Given the description of an element on the screen output the (x, y) to click on. 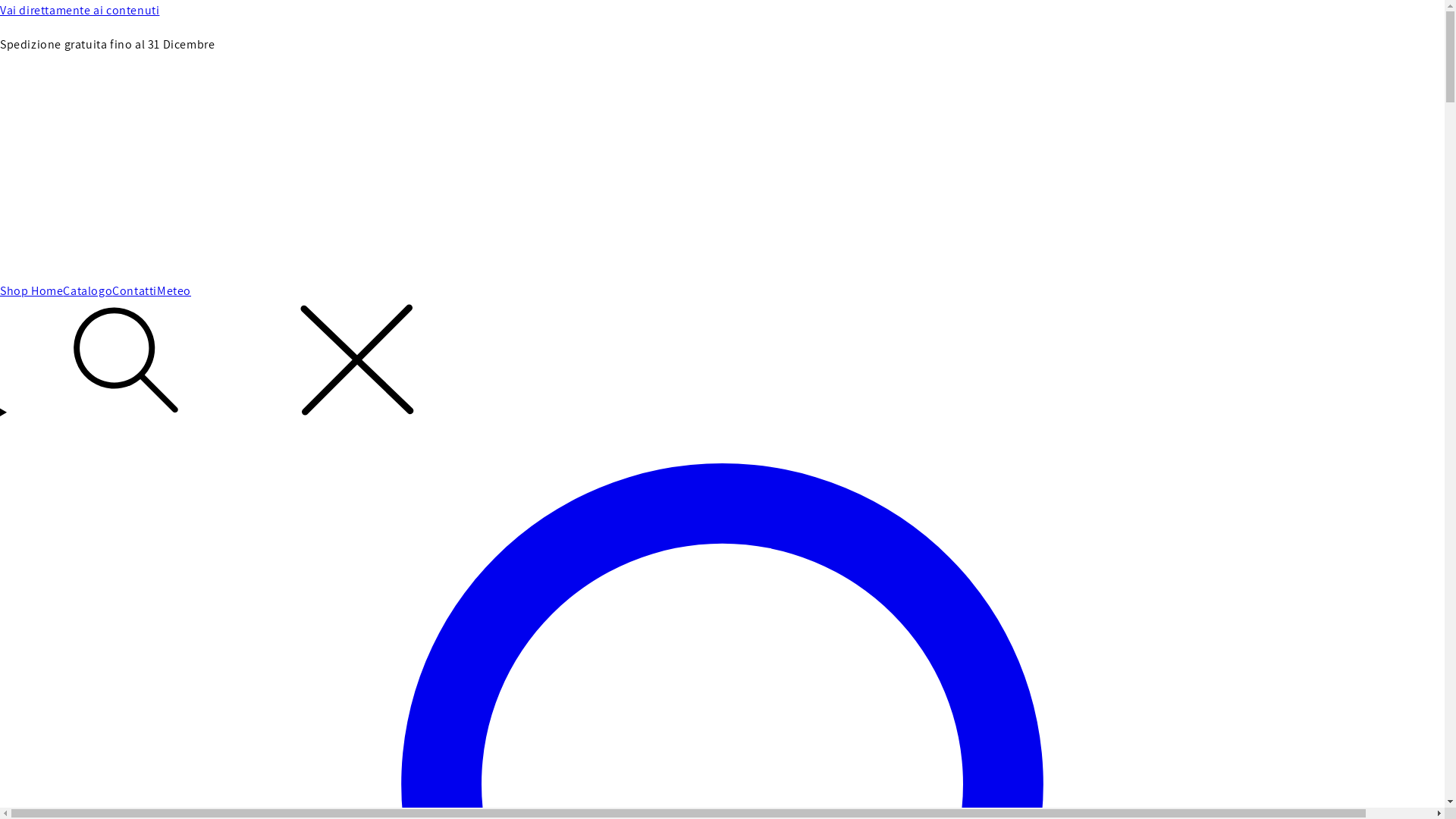
Contatti Element type: text (134, 291)
Catalogo Element type: text (87, 291)
Meteo Element type: text (173, 291)
Vai direttamente ai contenuti Element type: text (722, 10)
Shop Home Element type: text (31, 291)
